Given the description of an element on the screen output the (x, y) to click on. 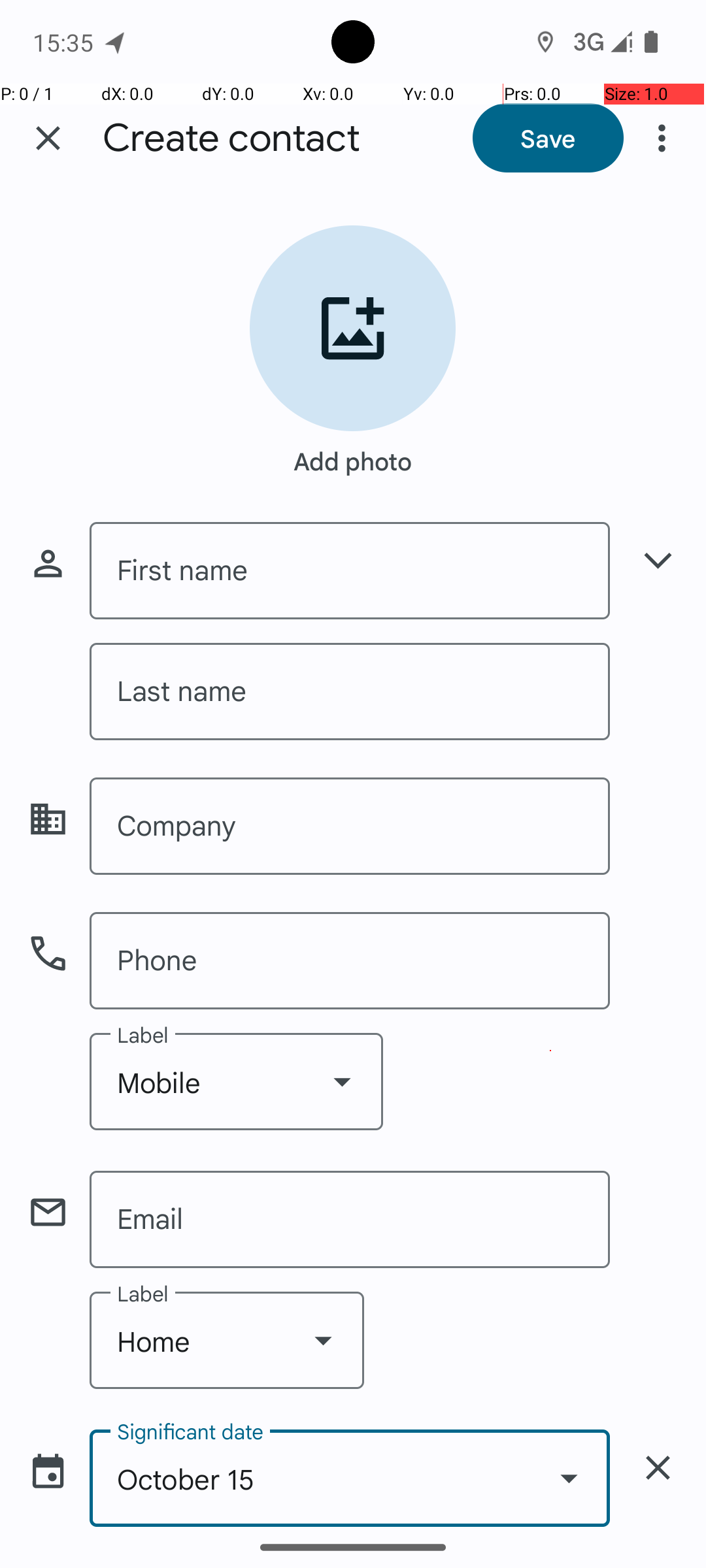
Save Element type: android.widget.Button (547, 137)
First name Element type: android.widget.EditText (349, 570)
Last name Element type: android.widget.EditText (349, 691)
Mobile Element type: android.widget.Spinner (236, 1081)
Show dropdown menu Element type: android.widget.ImageButton (341, 1081)
Email Element type: android.widget.EditText (349, 1219)
October 15 Element type: android.widget.EditText (349, 1477)
Show date picker Element type: android.widget.ImageButton (568, 1477)
Delete Birthday Special date Element type: android.widget.FrameLayout (657, 1467)
Add contact photo Element type: android.widget.ImageView (352, 328)
Add photo Element type: android.widget.TextView (352, 454)
Show more name fields Element type: android.widget.ImageView (657, 560)
delete Element type: android.widget.ImageView (657, 1467)
15:35 Element type: android.widget.TextView (64, 41)
